Given the description of an element on the screen output the (x, y) to click on. 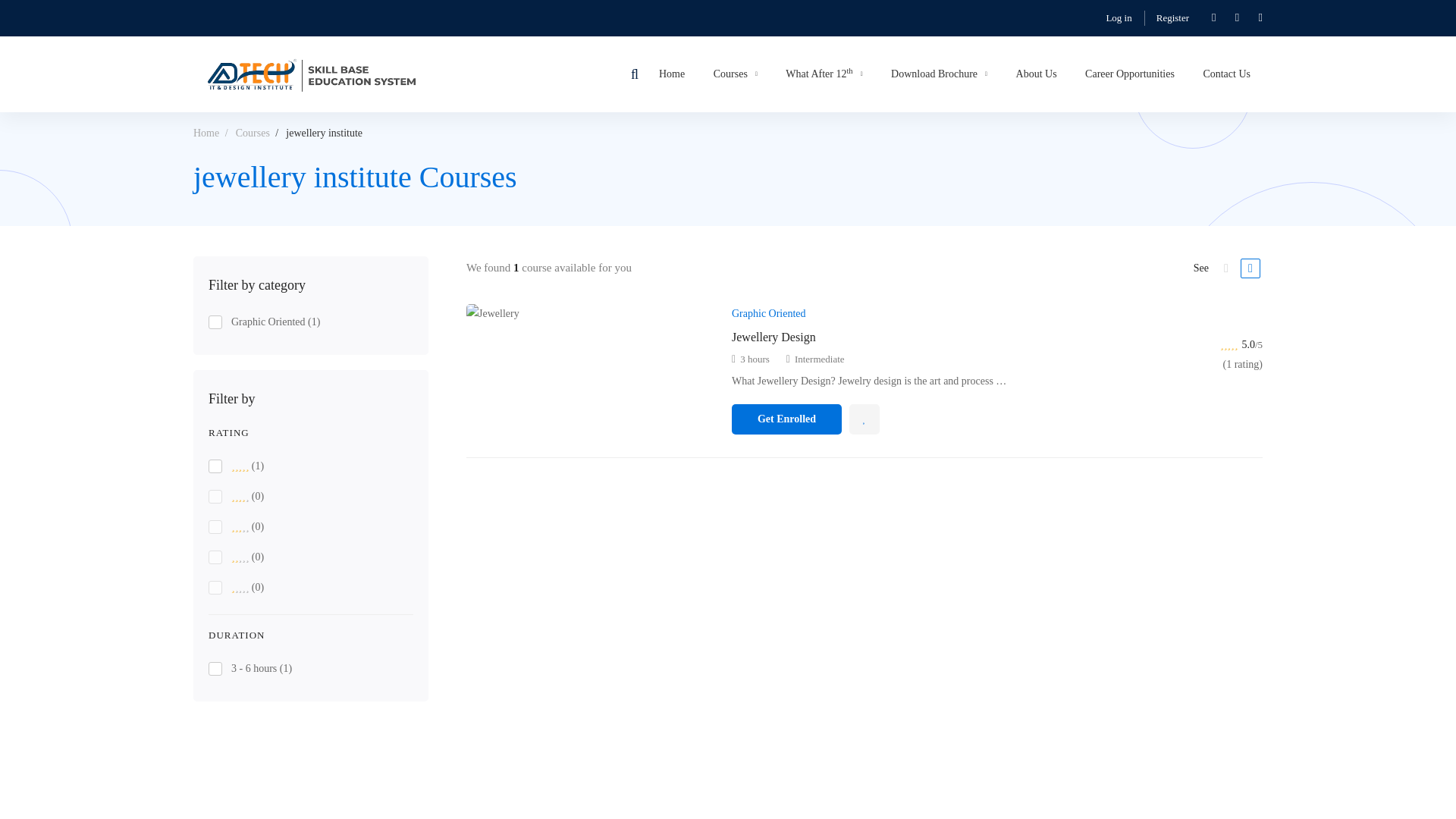
Courses (735, 74)
Register (1172, 18)
Log in (1117, 18)
Log in (1117, 18)
Register (1172, 18)
